Given the description of an element on the screen output the (x, y) to click on. 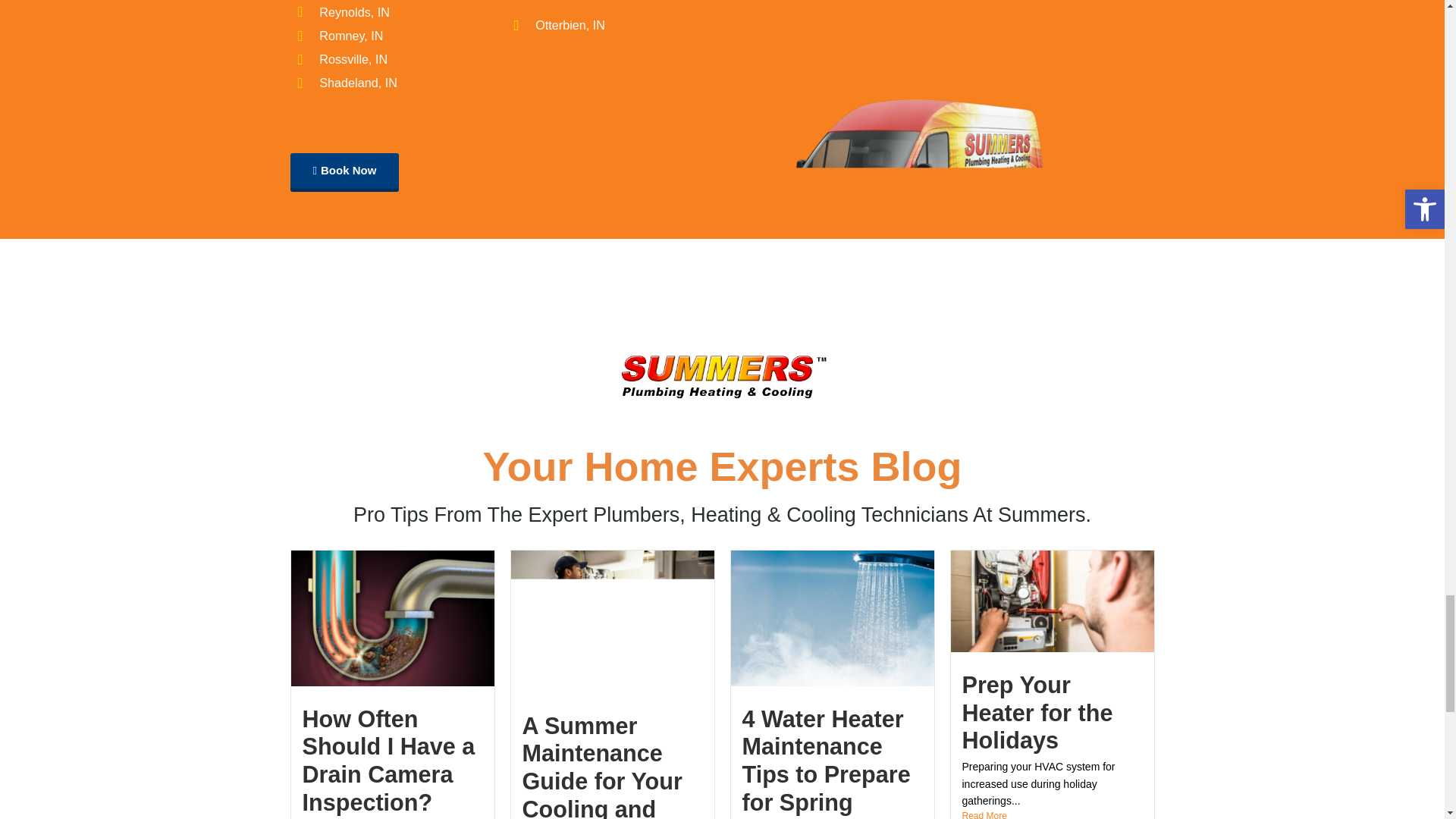
How Often Should I Have a Drain Camera Inspection? (387, 759)
4 Water Heater Maintenance Tips to Prepare for Spring (825, 759)
Prep Your Heater for the Holidays (1036, 711)
